Given the description of an element on the screen output the (x, y) to click on. 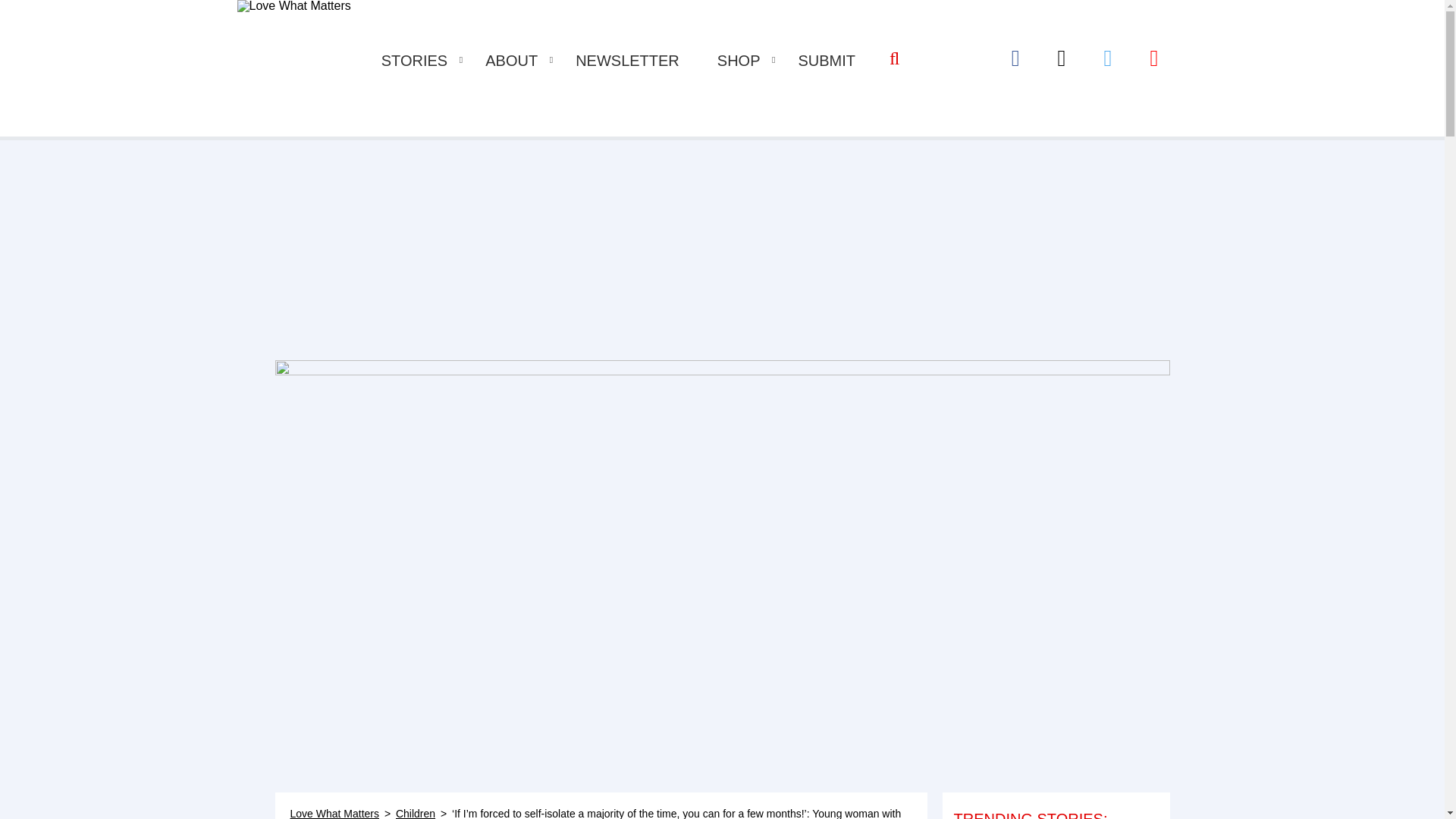
STORIES (414, 60)
NEWSLETTER (627, 60)
SUBMIT (826, 60)
ABOUT (511, 60)
SHOP (738, 60)
